Given the description of an element on the screen output the (x, y) to click on. 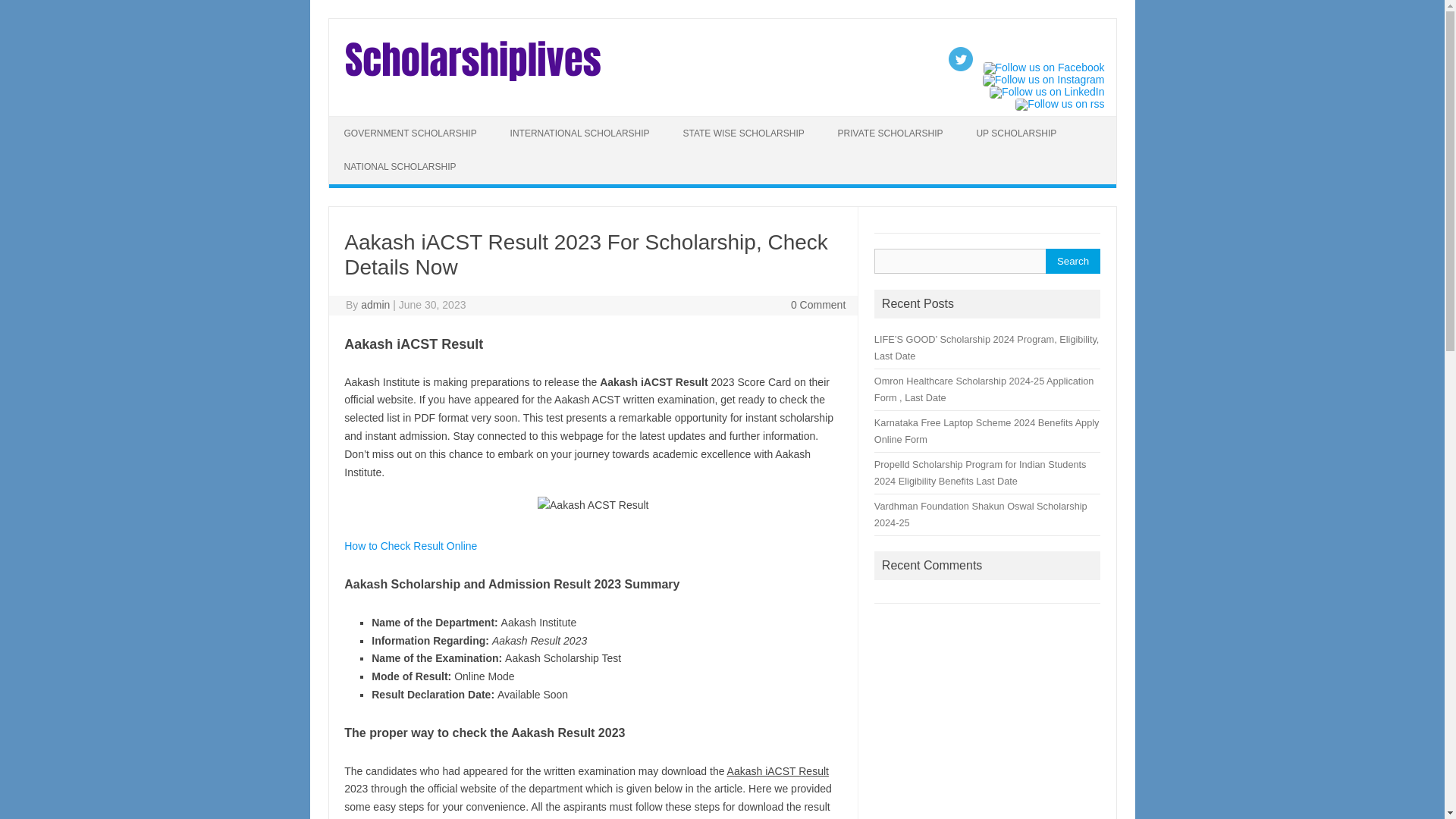
admin (375, 304)
Skip to content (363, 121)
Scholarships (472, 82)
Search (1072, 260)
INTERNATIONAL SCHOLARSHIP (580, 133)
Vardhman Foundation Shakun Oswal Scholarship 2024-25 (981, 514)
Karnataka Free Laptop Scheme 2024 Benefits Apply Online Form (987, 430)
Posts by admin (375, 304)
0 Comment (817, 304)
